Given the description of an element on the screen output the (x, y) to click on. 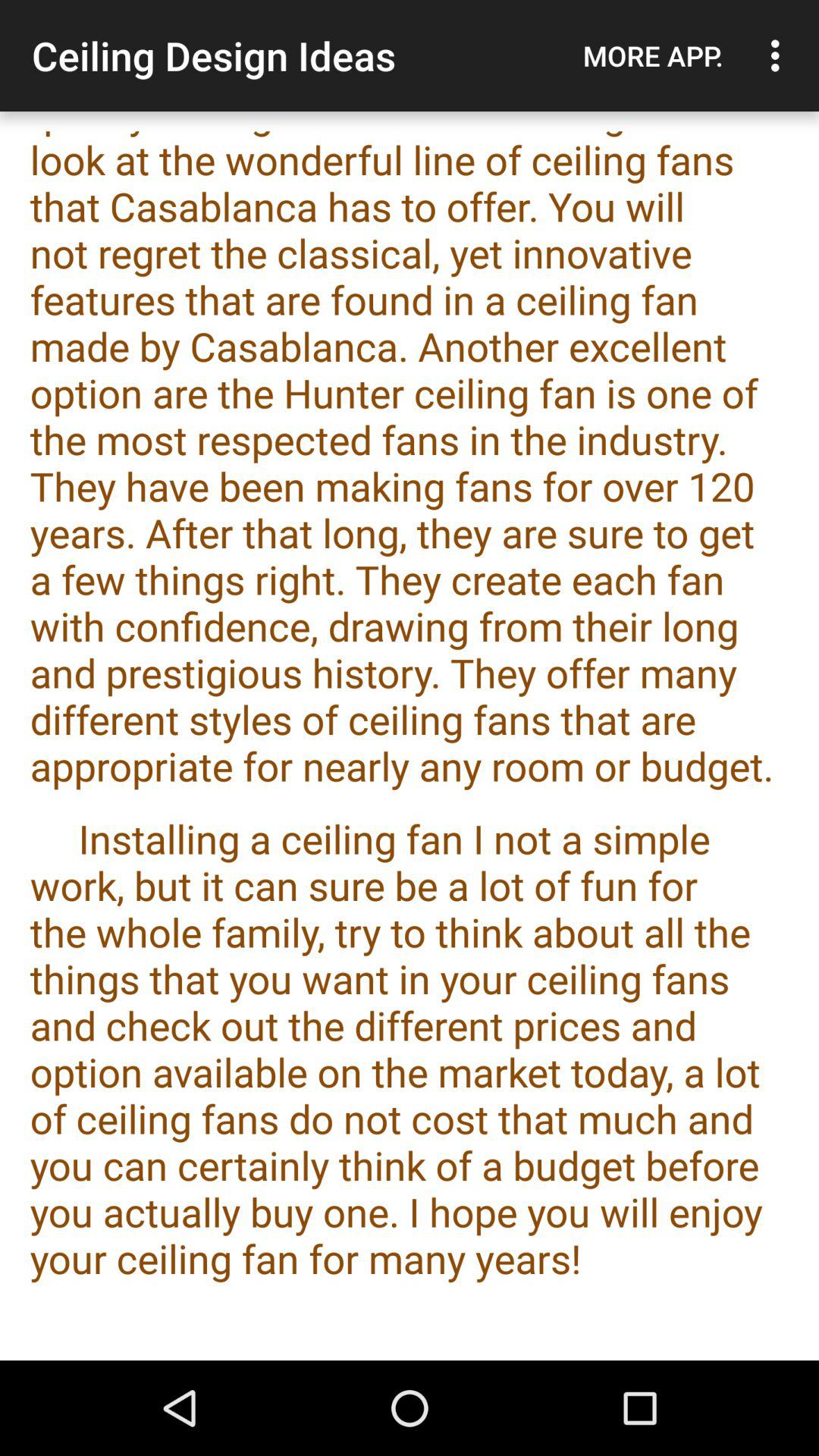
select item to the right of the ceiling design ideas icon (653, 55)
